Given the description of an element on the screen output the (x, y) to click on. 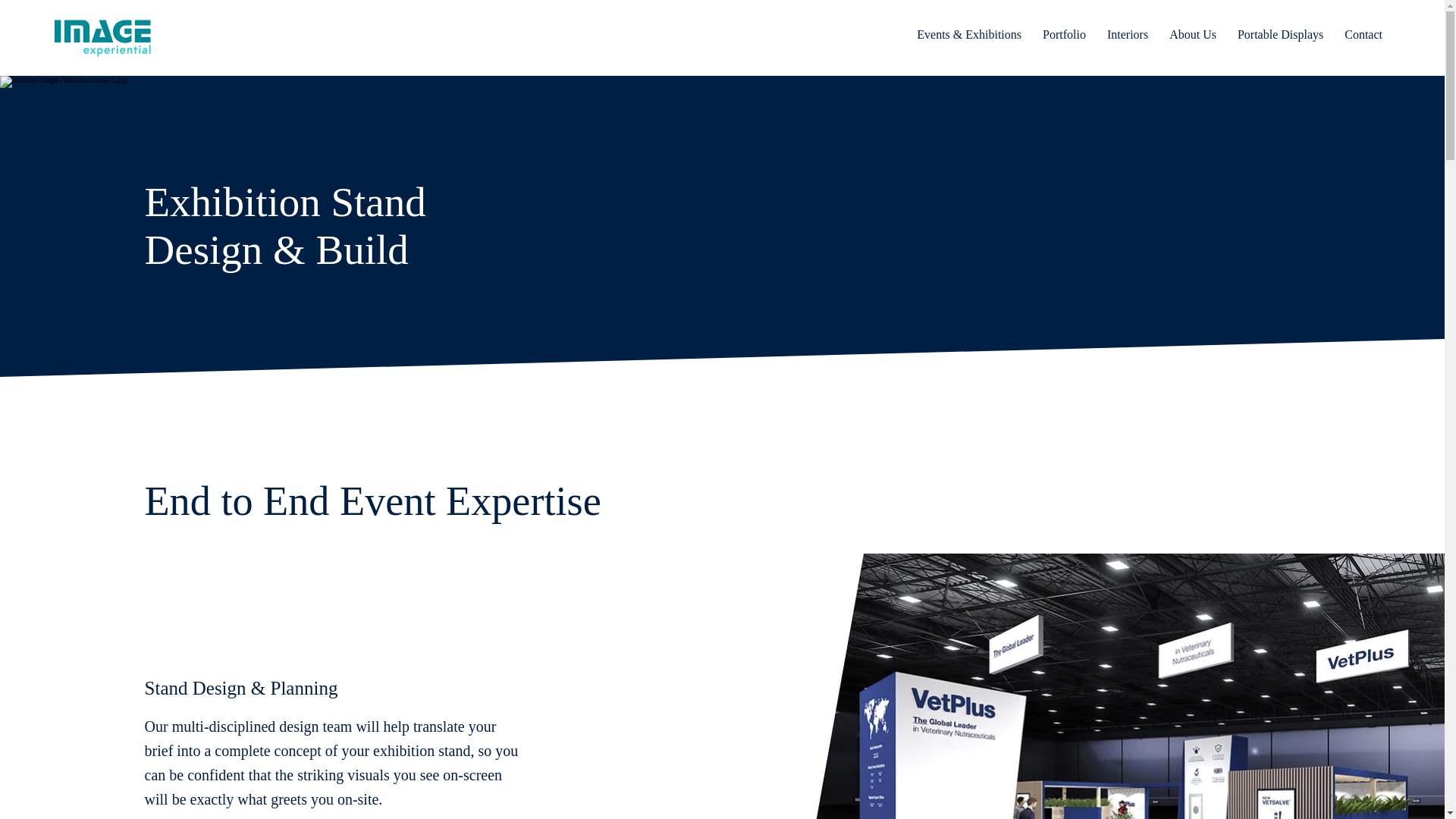
About Us (1192, 34)
Portfolio (1064, 34)
Contact (1363, 34)
Portable Displays (1280, 34)
Interiors (1127, 34)
